Given the description of an element on the screen output the (x, y) to click on. 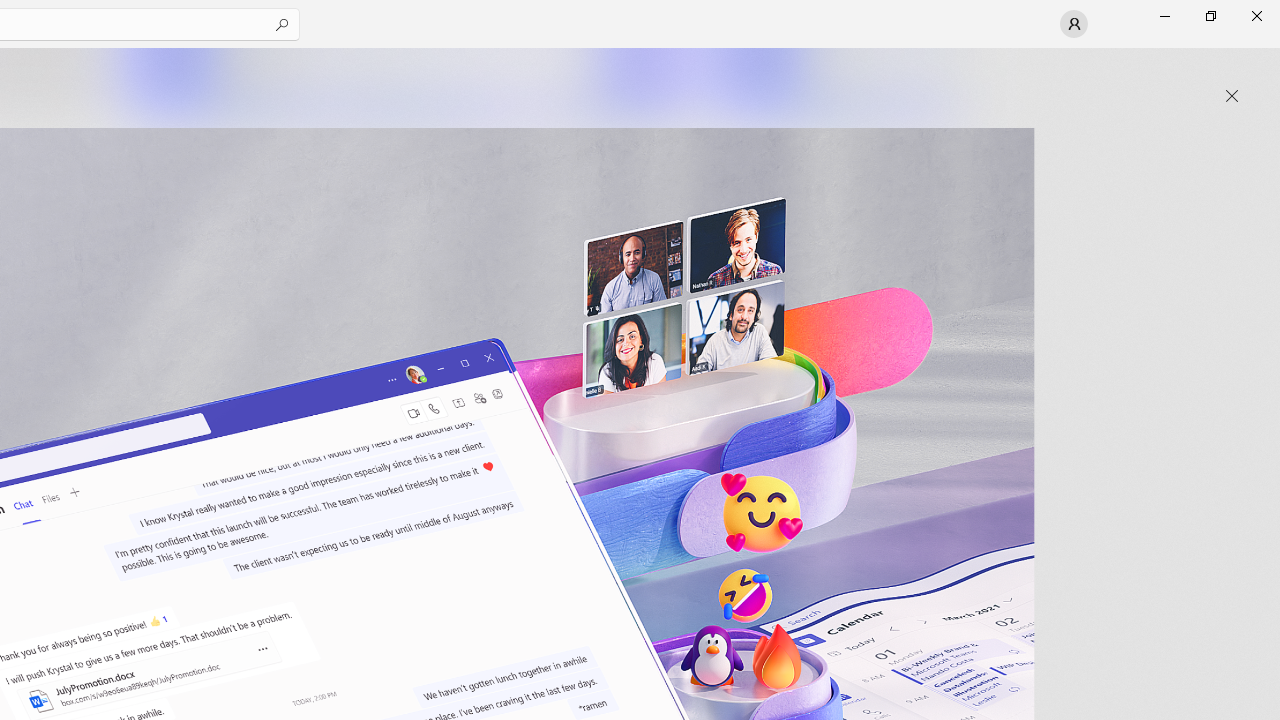
Minimize Microsoft Store (1164, 15)
Screenshot 3 (833, 81)
Screenshot 2 (406, 81)
Close Microsoft Store (1256, 15)
Restore Microsoft Store (1210, 15)
User profile (1073, 24)
close popup window (1232, 95)
Show all ratings and reviews (924, 495)
